Given the description of an element on the screen output the (x, y) to click on. 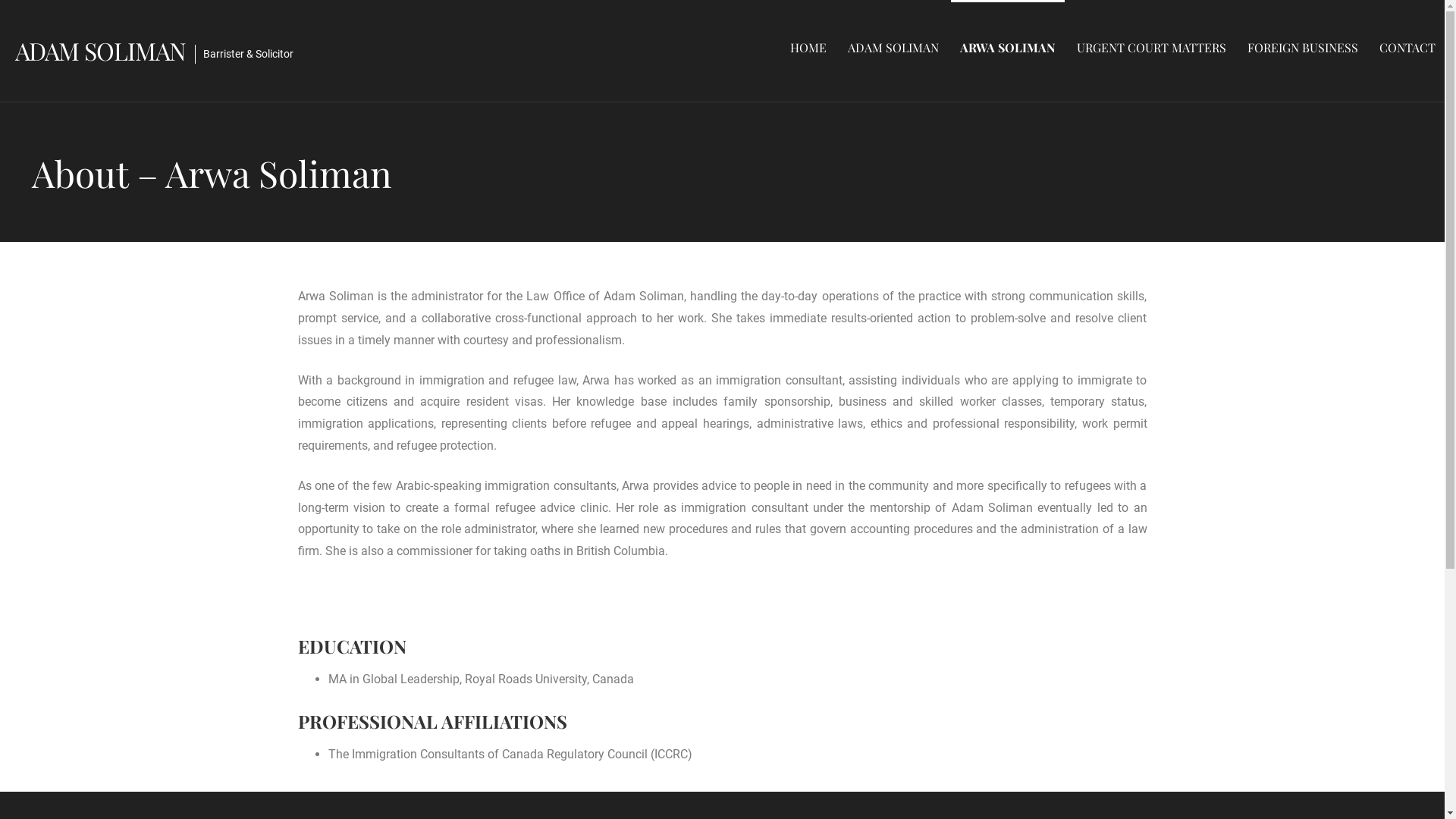
URGENT COURT MATTERS Element type: text (1151, 47)
ADAM SOLIMAN Element type: text (892, 47)
ADAM SOLIMAN Element type: text (100, 50)
CONTACT Element type: text (1407, 47)
FOREIGN BUSINESS Element type: text (1302, 47)
ARWA SOLIMAN Element type: text (1007, 47)
HOME Element type: text (808, 47)
